Given the description of an element on the screen output the (x, y) to click on. 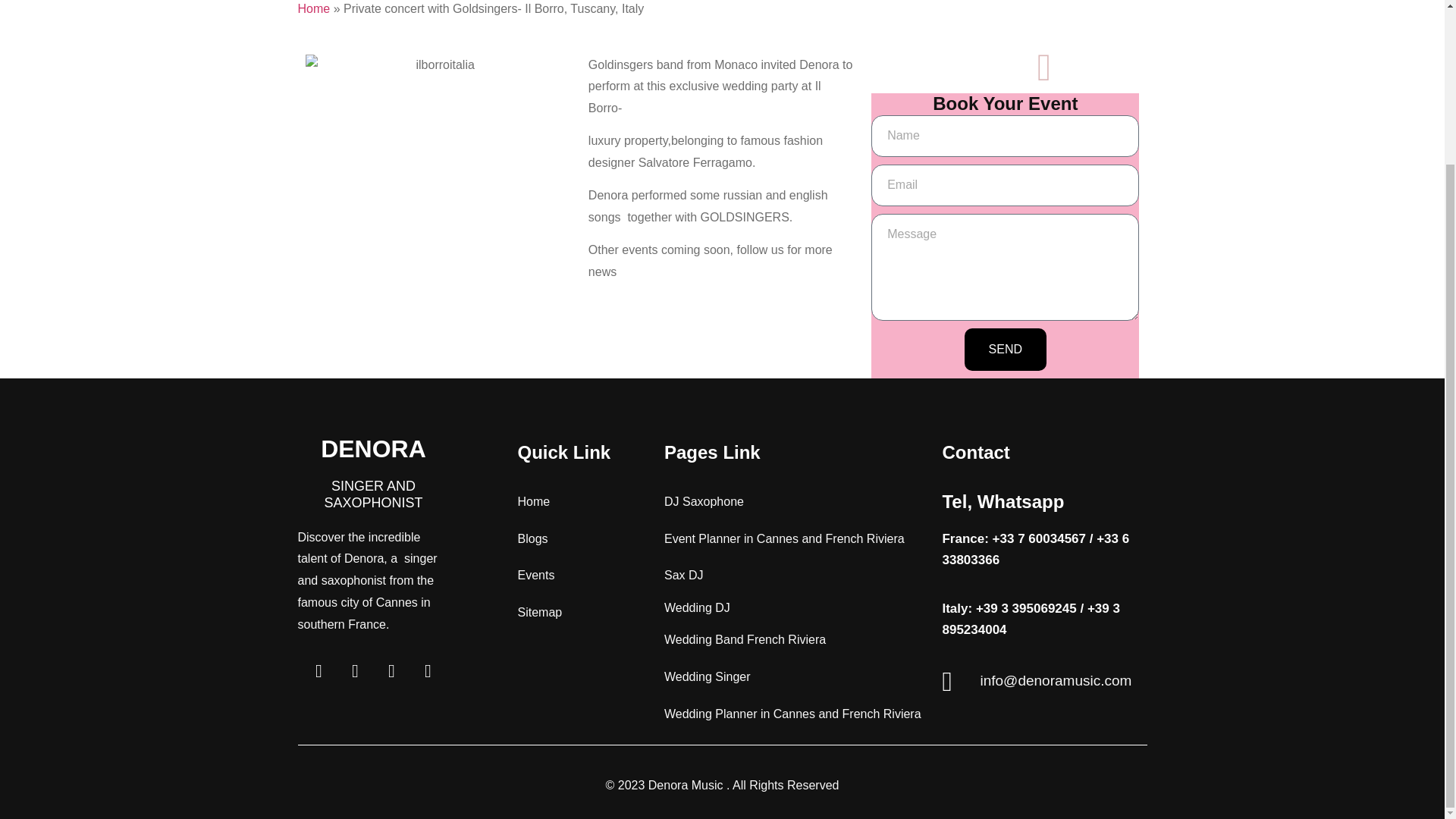
DJ Saxophone (703, 501)
Event Planner in Cannes and French Riviera (783, 538)
SEND (1004, 349)
Sitemap (539, 612)
Blogs (531, 538)
Wedding Singer (707, 676)
Sax DJ (683, 574)
Home (313, 8)
Wedding DJ (696, 607)
Wedding Band French Riviera (744, 639)
Home (533, 501)
Events (535, 574)
